Given the description of an element on the screen output the (x, y) to click on. 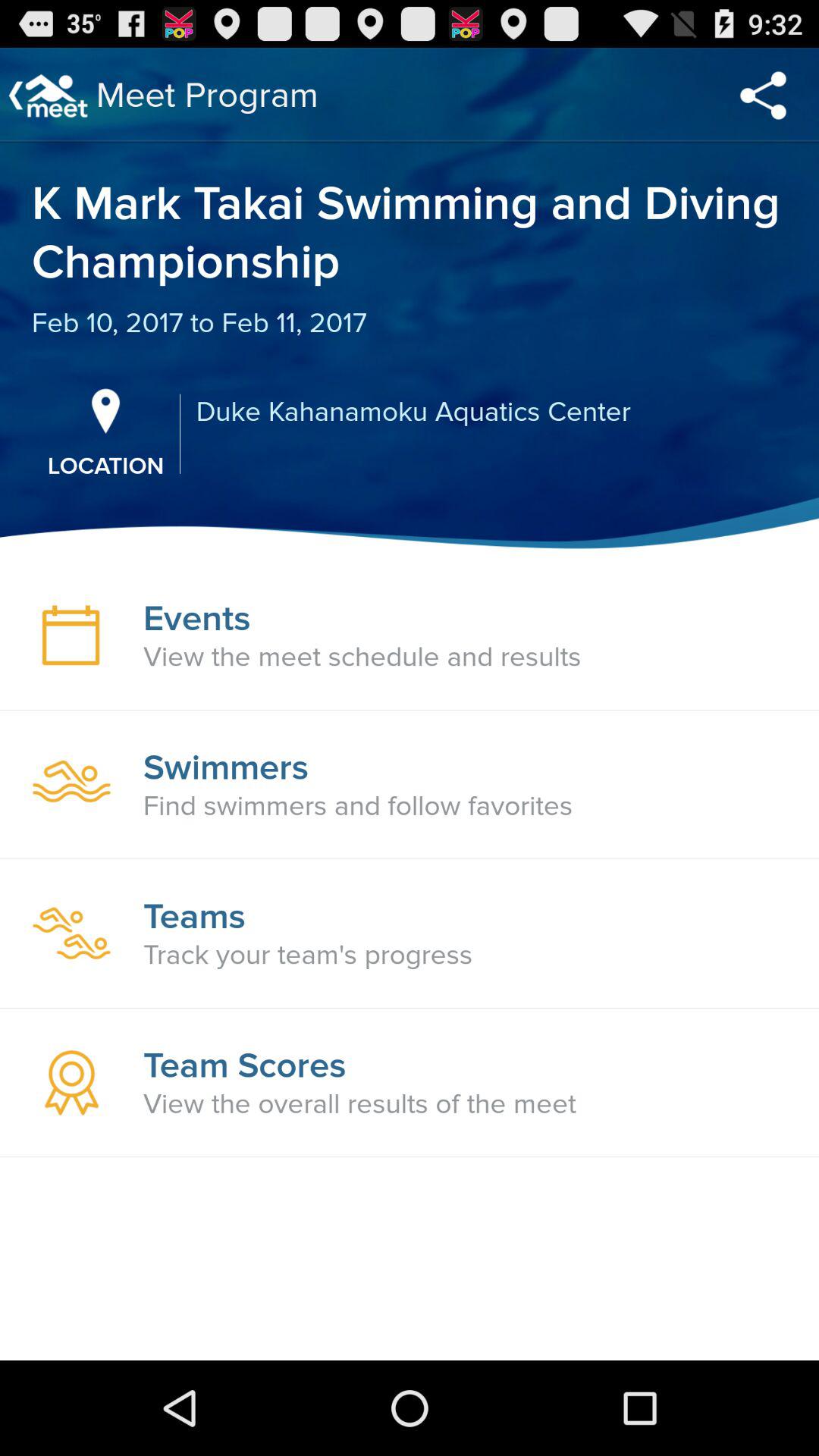
tap track your team item (307, 954)
